Given the description of an element on the screen output the (x, y) to click on. 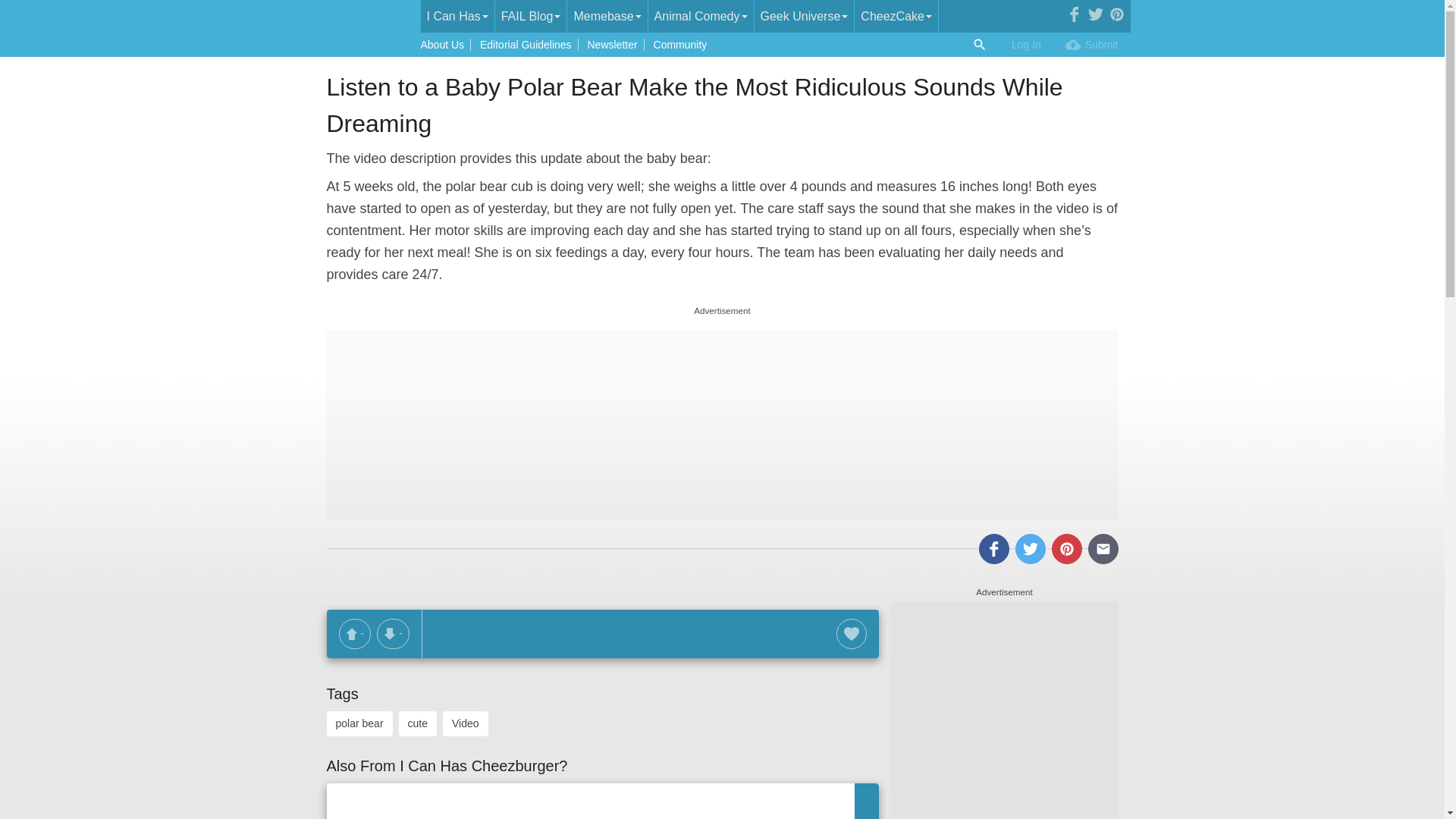
I Can Has (456, 16)
World's largest collection of cat memes and other animals (456, 16)
Animal Comedy (700, 16)
Memebase (606, 16)
Cheezburger Homepage (367, 16)
FAIL Blog (531, 16)
